Given the description of an element on the screen output the (x, y) to click on. 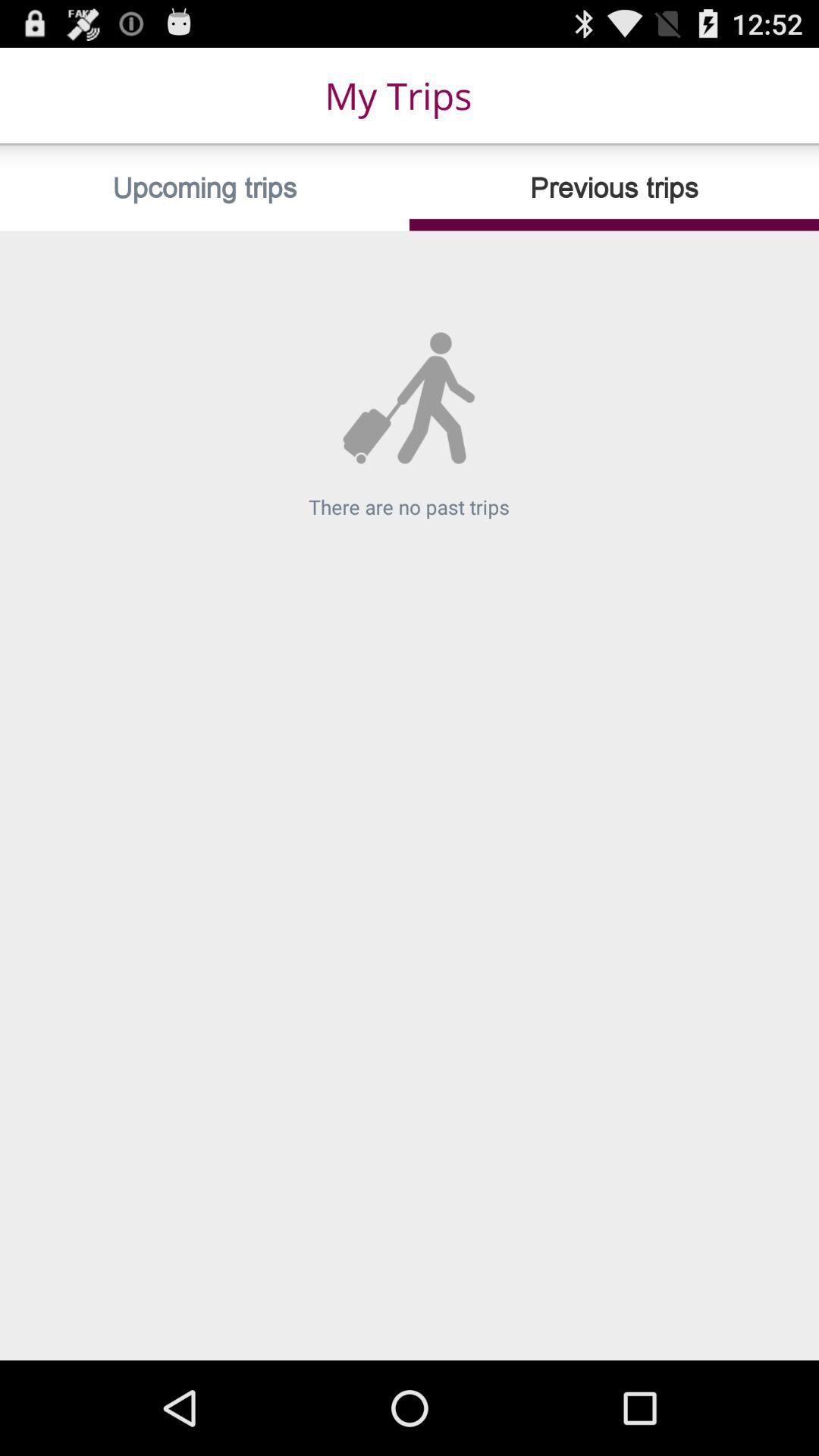
choose the icon next to the previous trips icon (204, 187)
